Given the description of an element on the screen output the (x, y) to click on. 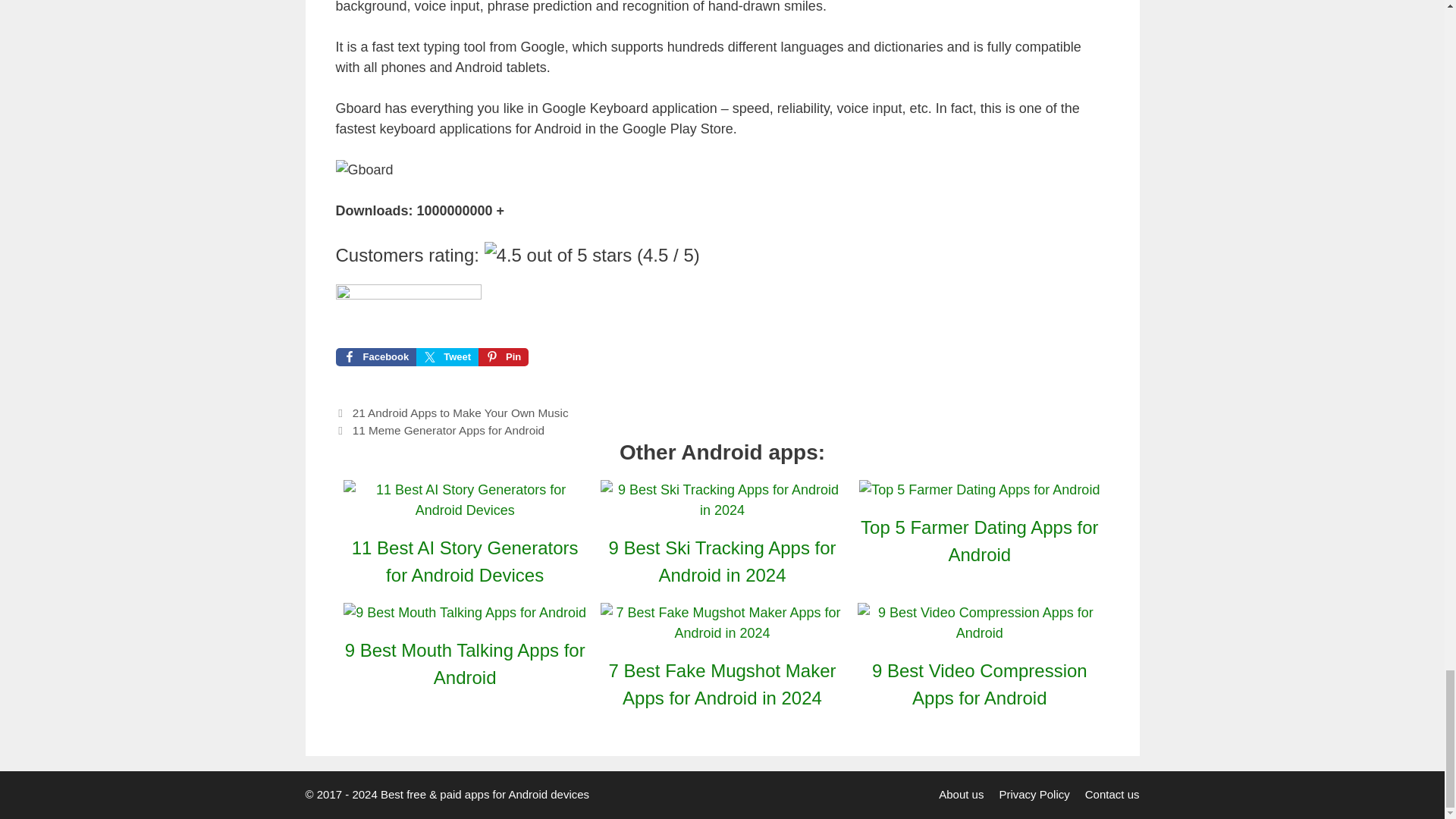
11 Meme Generator Apps for Android (448, 430)
21 Android Apps to Make Your Own Music (460, 412)
9 Best Video Compression Apps for Android (978, 632)
About us (961, 793)
9 Best Ski Tracking Apps for Android in 2024 (721, 509)
Share on Twitter (447, 357)
Top 5 Farmer Dating Apps for Android (978, 540)
Pin (503, 357)
Share on Pinterest (503, 357)
7 Best Fake Mugshot Maker Apps for Android in 2024 (721, 632)
11 Best AI Story Generators for Android Devices (465, 561)
Top 5 Farmer Dating Apps for Android (979, 489)
9 Best Mouth Talking Apps for Android (464, 612)
Privacy Policy (1033, 793)
Tweet (447, 357)
